Given the description of an element on the screen output the (x, y) to click on. 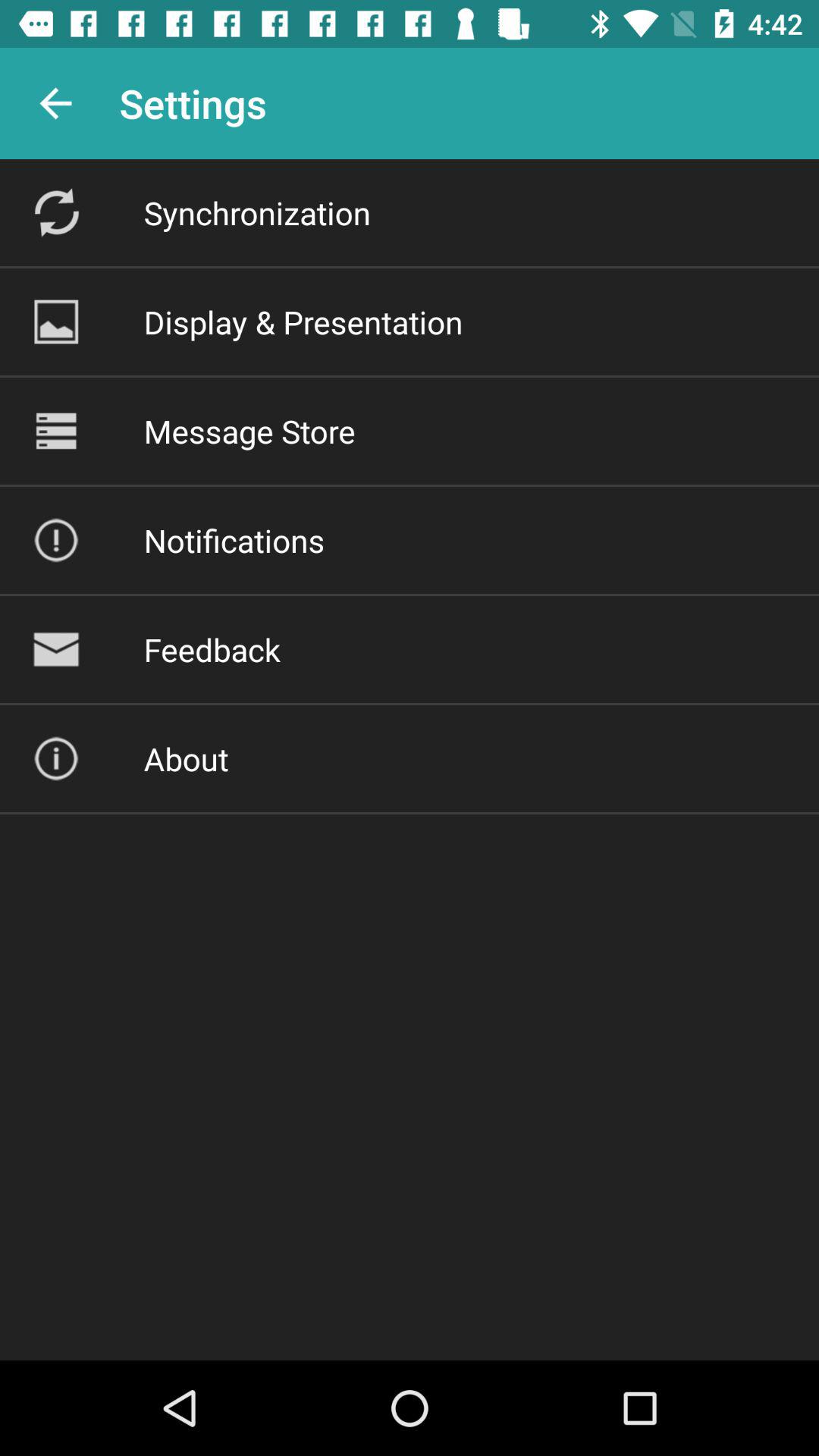
press the item below notifications icon (211, 649)
